Given the description of an element on the screen output the (x, y) to click on. 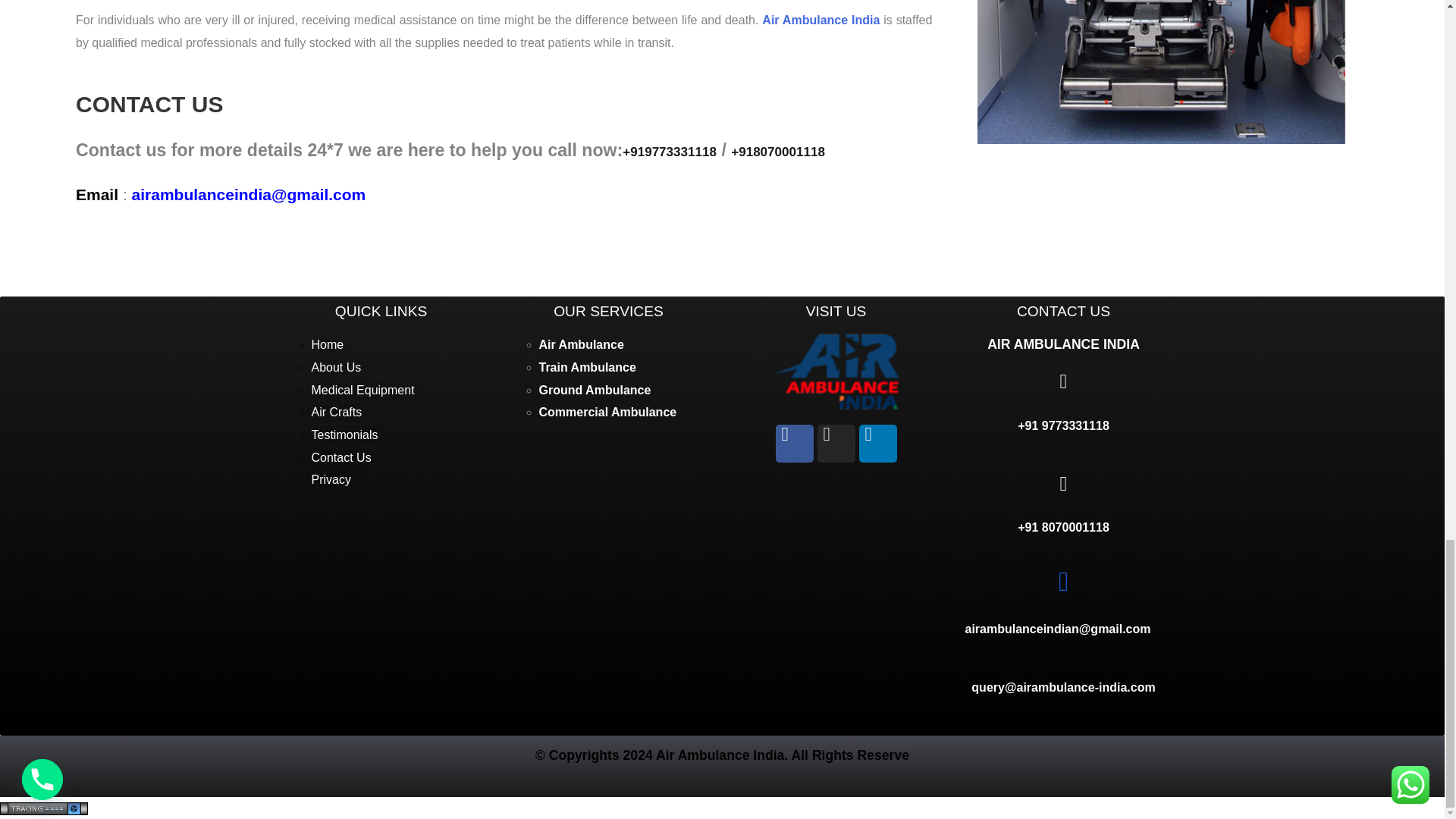
Air Ambulance India (820, 19)
